Given the description of an element on the screen output the (x, y) to click on. 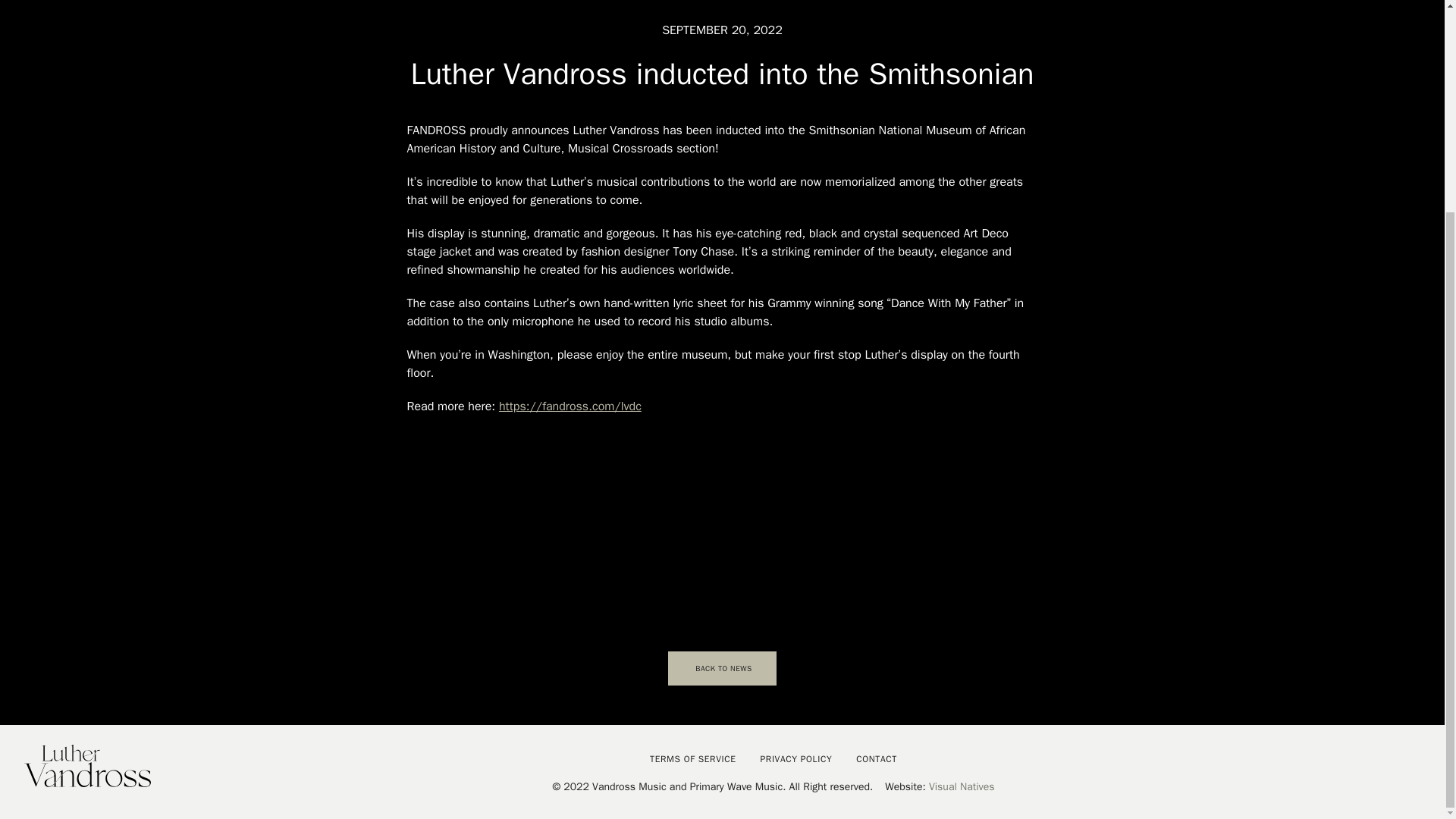
BACK TO NEWS (722, 668)
